Given the description of an element on the screen output the (x, y) to click on. 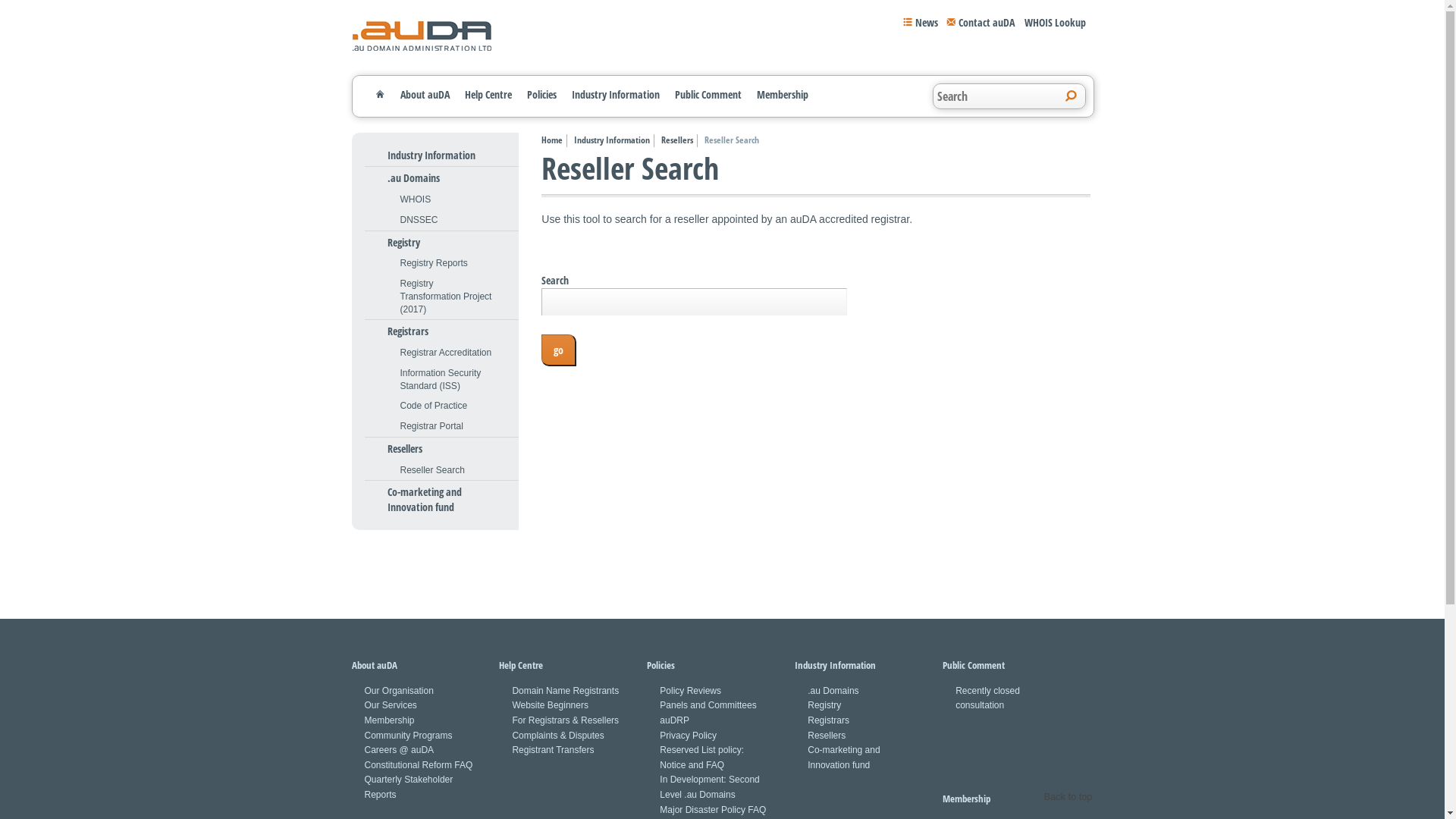
Resellers Element type: text (826, 735)
Reseller Search Element type: text (432, 470)
In Development: Second Level .au Domains Element type: text (709, 787)
WHOIS Lookup Element type: text (1053, 22)
go Element type: text (558, 350)
Registrar Portal Element type: text (431, 426)
Co-marketing and Innovation fund Element type: text (843, 757)
Industry Information Element type: text (614, 140)
Website Beginners Element type: text (549, 704)
About auDA Element type: text (424, 94)
Back to top Element type: text (1067, 796)
Registrars Element type: text (828, 720)
Policy Reviews Element type: text (690, 690)
Panels and Committees Element type: text (707, 704)
Policies Element type: text (541, 94)
Recently closed consultation Element type: text (987, 698)
Registrars Element type: text (407, 331)
For Registrars & Resellers Element type: text (564, 720)
.au Domains Element type: text (832, 690)
Major Disaster Policy FAQ Element type: text (712, 809)
Registry Element type: text (403, 242)
Help Centre Element type: text (487, 94)
Code of Practice Element type: text (433, 405)
Resellers Element type: text (404, 448)
Complaints & Disputes Element type: text (557, 735)
Membership Element type: text (782, 94)
Privacy Policy Element type: text (687, 735)
DNSSEC Element type: text (419, 220)
Registry Element type: text (823, 704)
Registrant Transfers Element type: text (552, 749)
Resellers Element type: text (679, 140)
Public Comment Element type: text (707, 94)
Our Services Element type: text (390, 704)
Home Element type: hover (379, 94)
Constitutional Reform FAQ Element type: text (418, 764)
Registry Reports Element type: text (433, 263)
Co-marketing and Innovation fund Element type: text (441, 498)
Home Element type: text (554, 140)
Domain Name Registrants Element type: text (564, 690)
Community Programs Element type: text (407, 735)
Reserved List policy: Notice and FAQ Element type: text (701, 757)
Registry Transformation Project (2017) Element type: text (448, 296)
Membership Element type: text (389, 720)
Industry Information Element type: text (615, 94)
News Element type: text (920, 22)
Contact auDA Element type: text (978, 22)
.au Domains Element type: text (412, 177)
auDRP Element type: text (674, 720)
Industry Information Element type: text (430, 155)
Registrar Accreditation Element type: text (445, 352)
Information Security Standard (ISS) Element type: text (448, 379)
Quarterly Stakeholder Reports Element type: text (408, 787)
Our Organisation Element type: text (398, 690)
WHOIS Element type: text (415, 199)
Careers @ auDA Element type: text (398, 749)
